Given the description of an element on the screen output the (x, y) to click on. 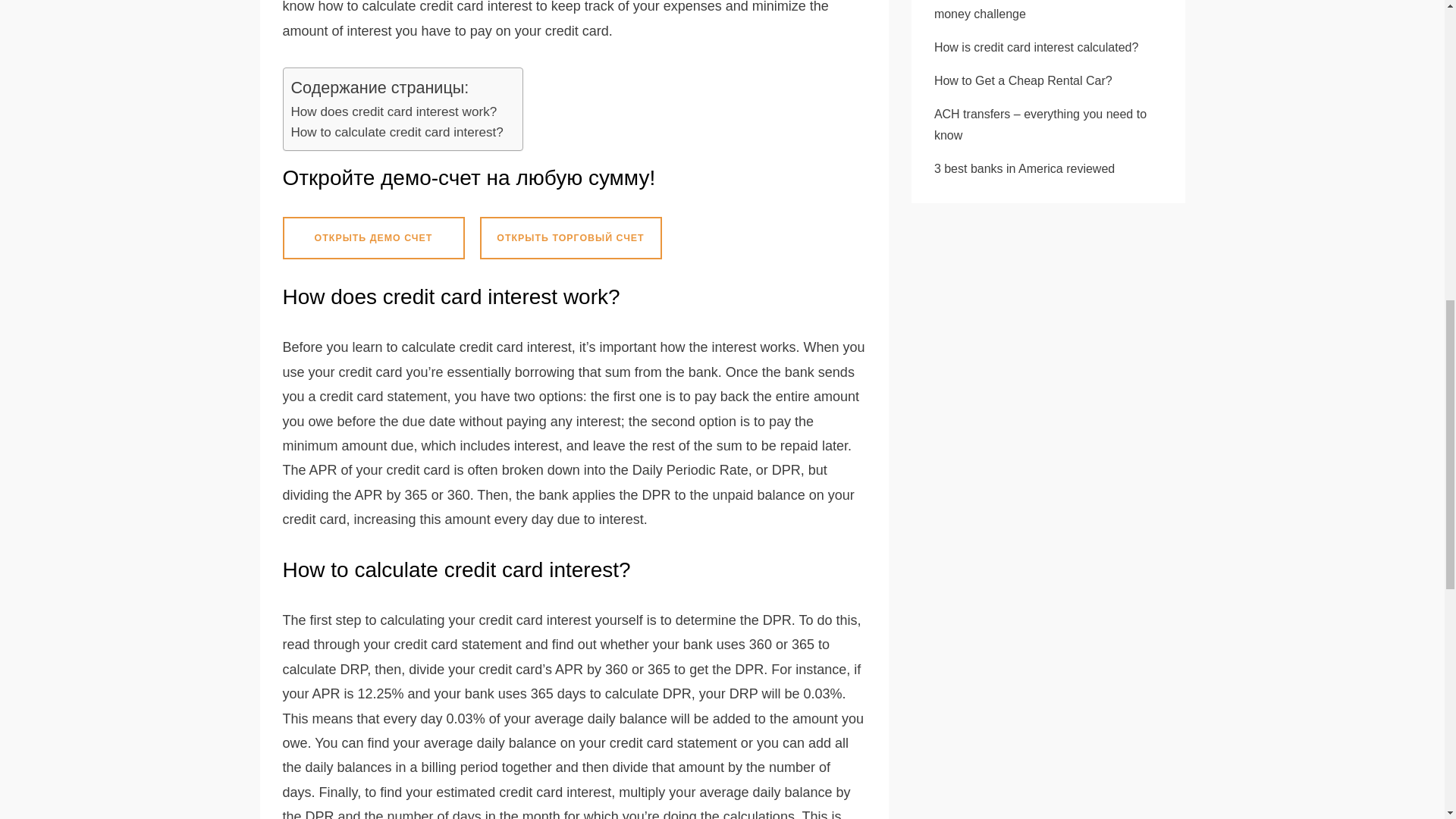
How to Get a Cheap Rental Car? (1023, 80)
How does credit card interest work?  (395, 111)
How to calculate credit card interest?  (398, 132)
3 tips on how to succeed at the 52-week money challenge (1042, 10)
How is credit card interest calculated? (1036, 47)
